Given the description of an element on the screen output the (x, y) to click on. 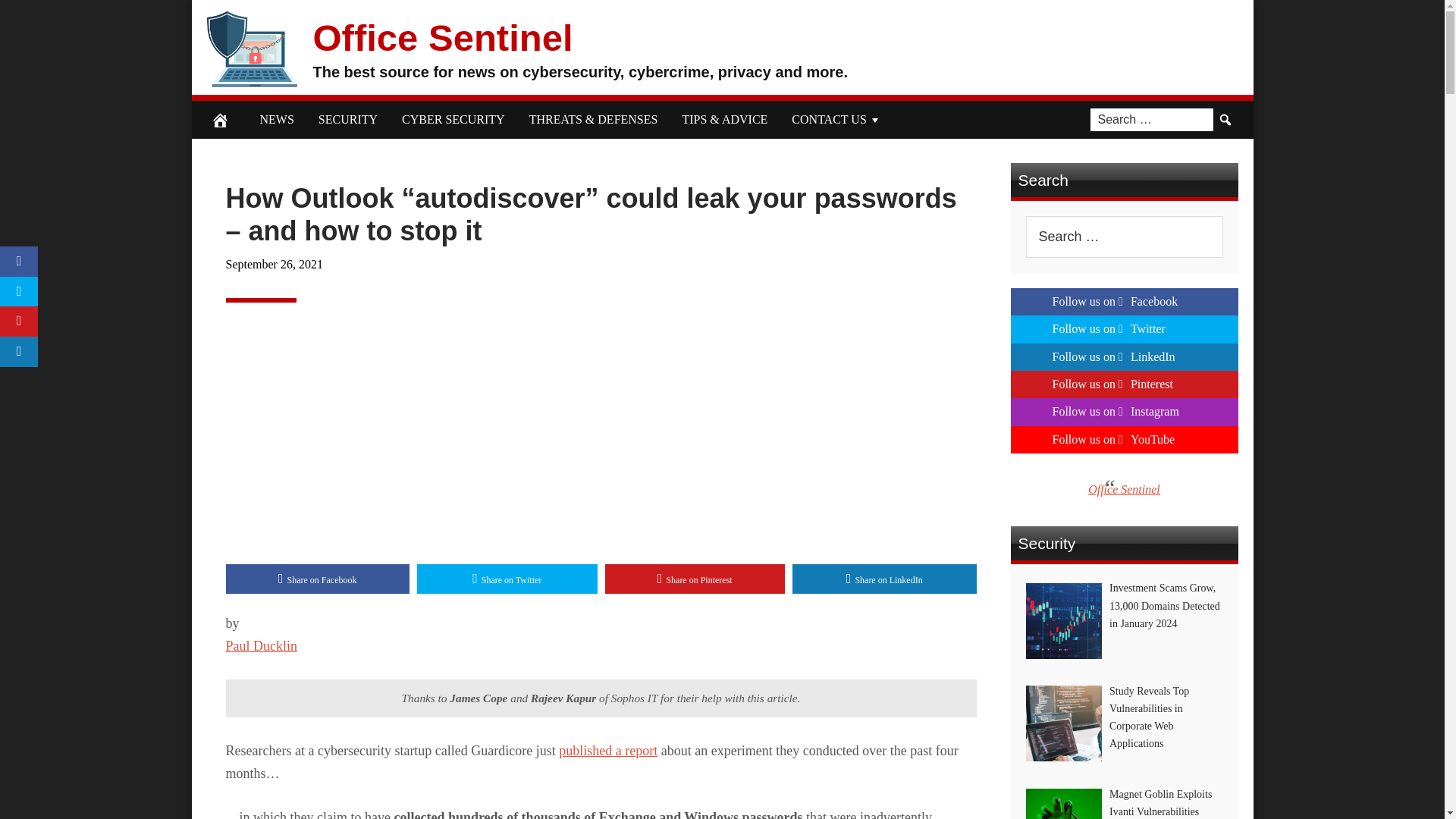
Share on Twitter (506, 579)
CONTACT US (835, 119)
Share on Facebook (317, 579)
CYBER SECURITY (453, 119)
Share on LinkedIn (884, 579)
SECURITY (347, 119)
Posts by Paul Ducklin (261, 645)
NEWS (276, 119)
